Given the description of an element on the screen output the (x, y) to click on. 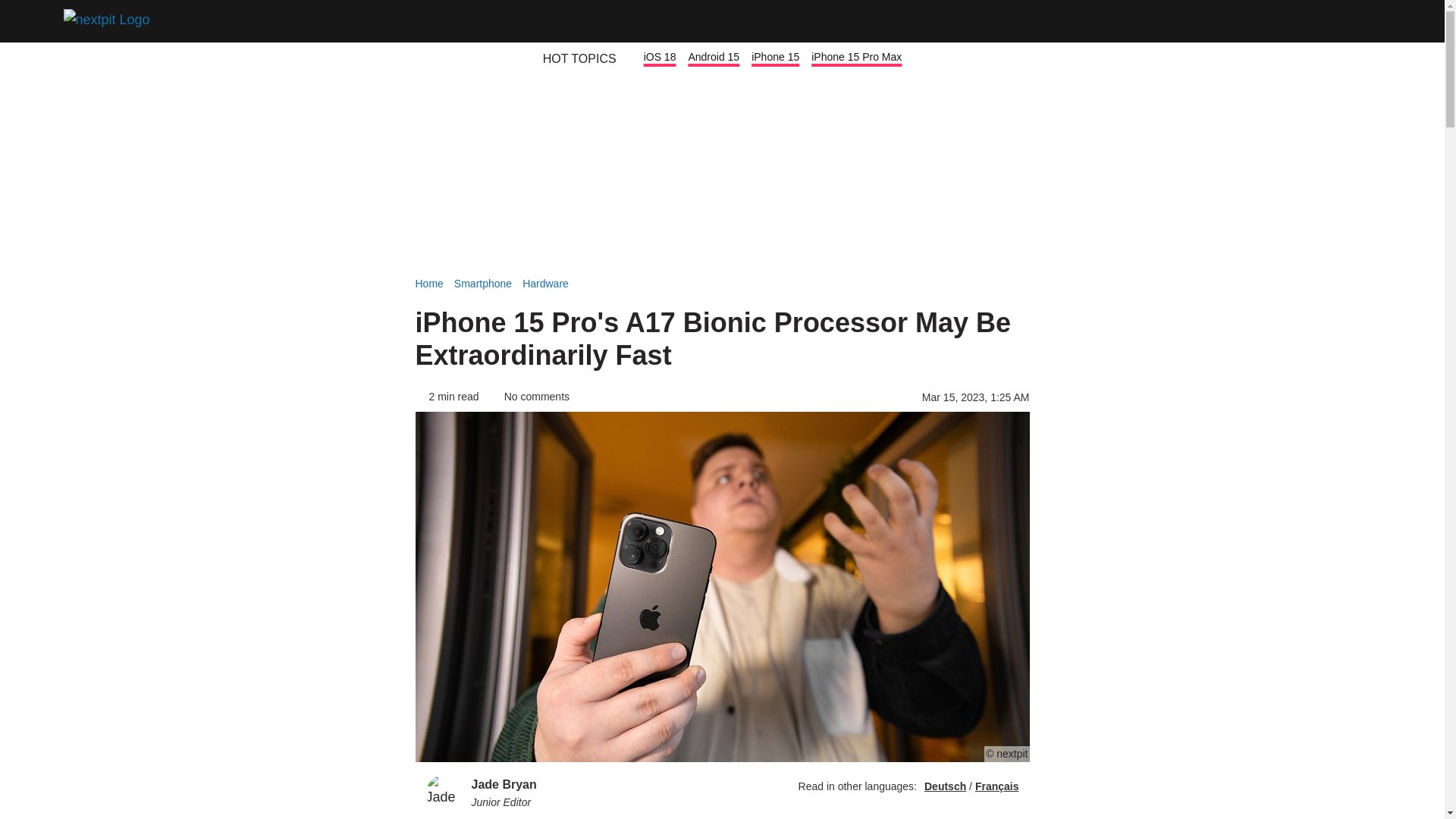
Read this article in French (997, 786)
To the nextpit homepage (110, 21)
Login (1321, 21)
2 min read (446, 396)
Read this article in German (945, 786)
Mar 15, 2023, 1:25:08 AM (975, 397)
